Given the description of an element on the screen output the (x, y) to click on. 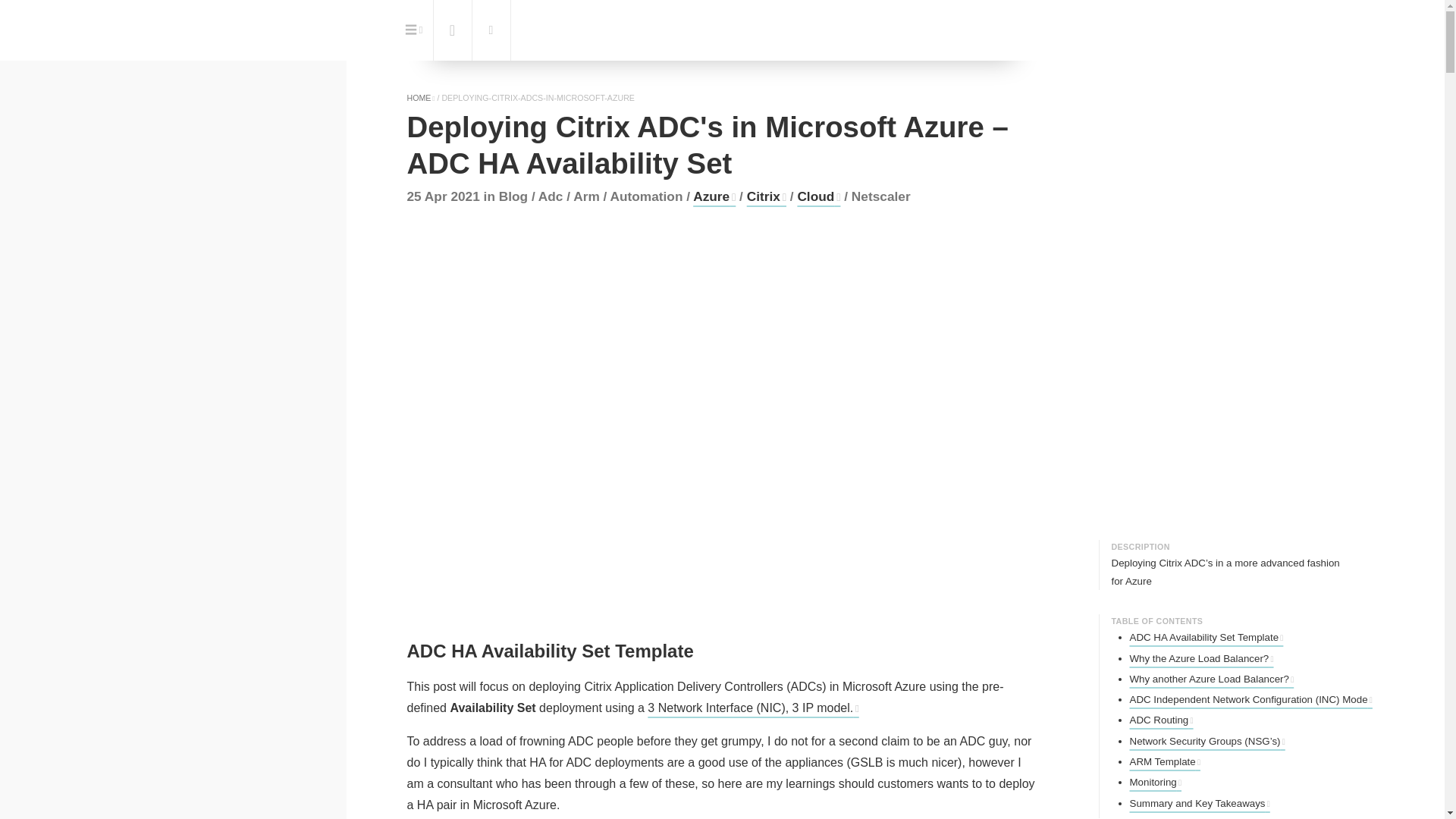
Azure (714, 196)
ARM Template (1164, 761)
Citrix (766, 196)
Summary and Key Takeaways (1199, 803)
Why the Azure Load Balancer? (1201, 657)
Monitoring (1155, 781)
HOME (419, 97)
Why another Azure Load Balancer? (1211, 678)
Cloud (818, 196)
ADC HA Availability Set Template (1206, 636)
ADC Routing (1161, 719)
